Given the description of an element on the screen output the (x, y) to click on. 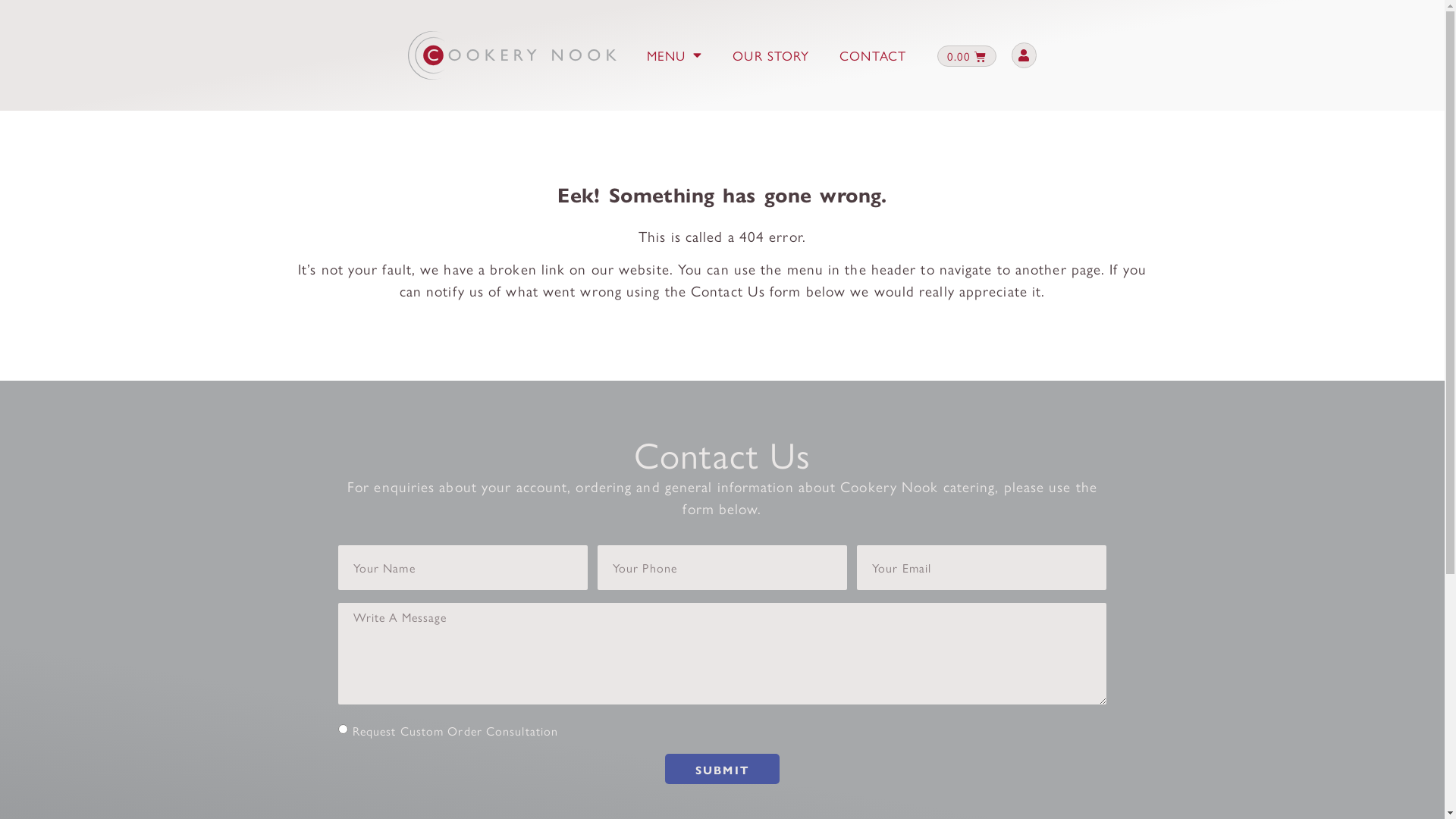
OUR STORY Element type: text (770, 54)
MENU Element type: text (674, 54)
0.00 Element type: text (966, 55)
CONTACT Element type: text (872, 54)
SUBMIT Element type: text (722, 768)
